Given the description of an element on the screen output the (x, y) to click on. 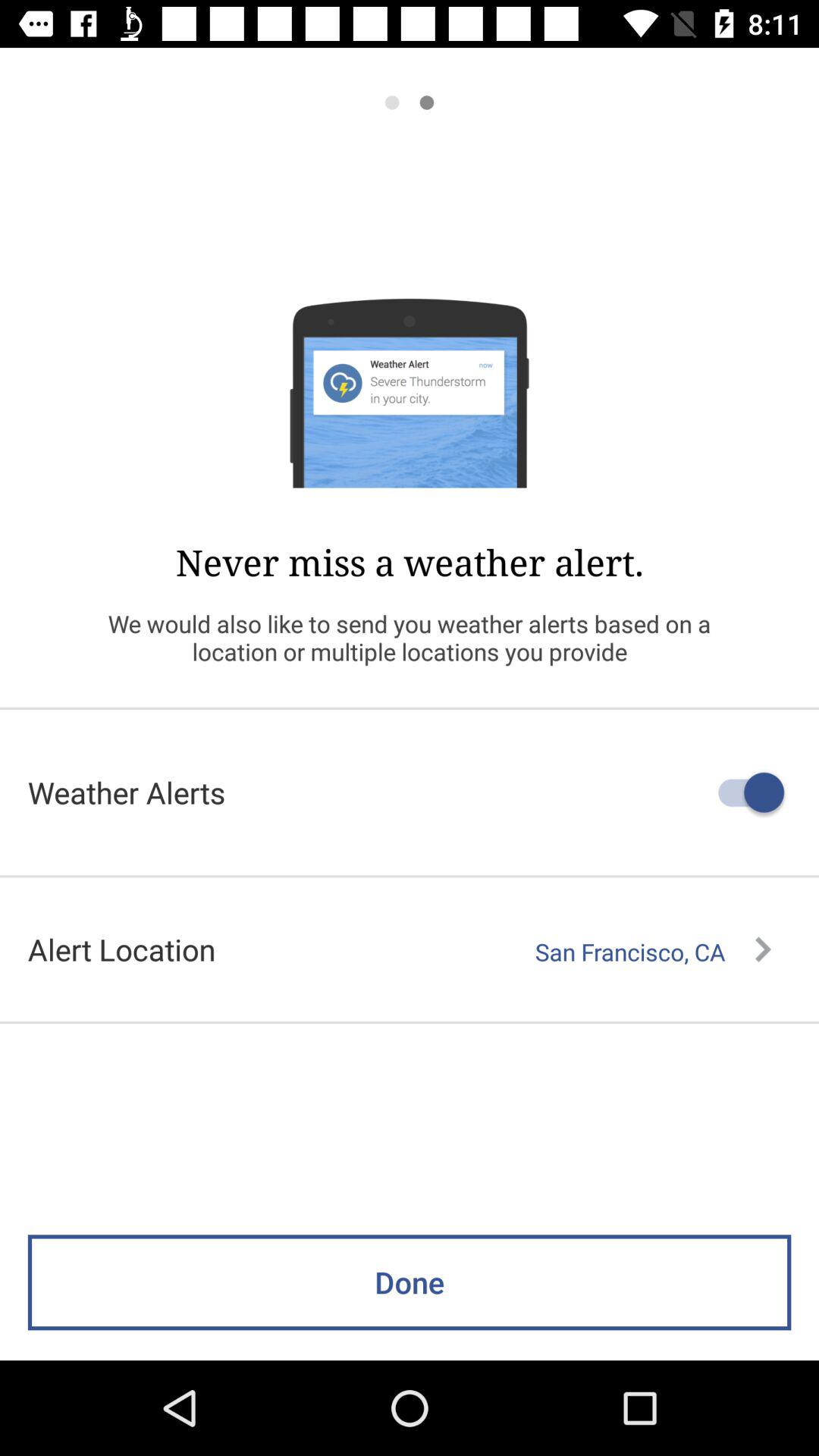
launch done icon (409, 1282)
